Given the description of an element on the screen output the (x, y) to click on. 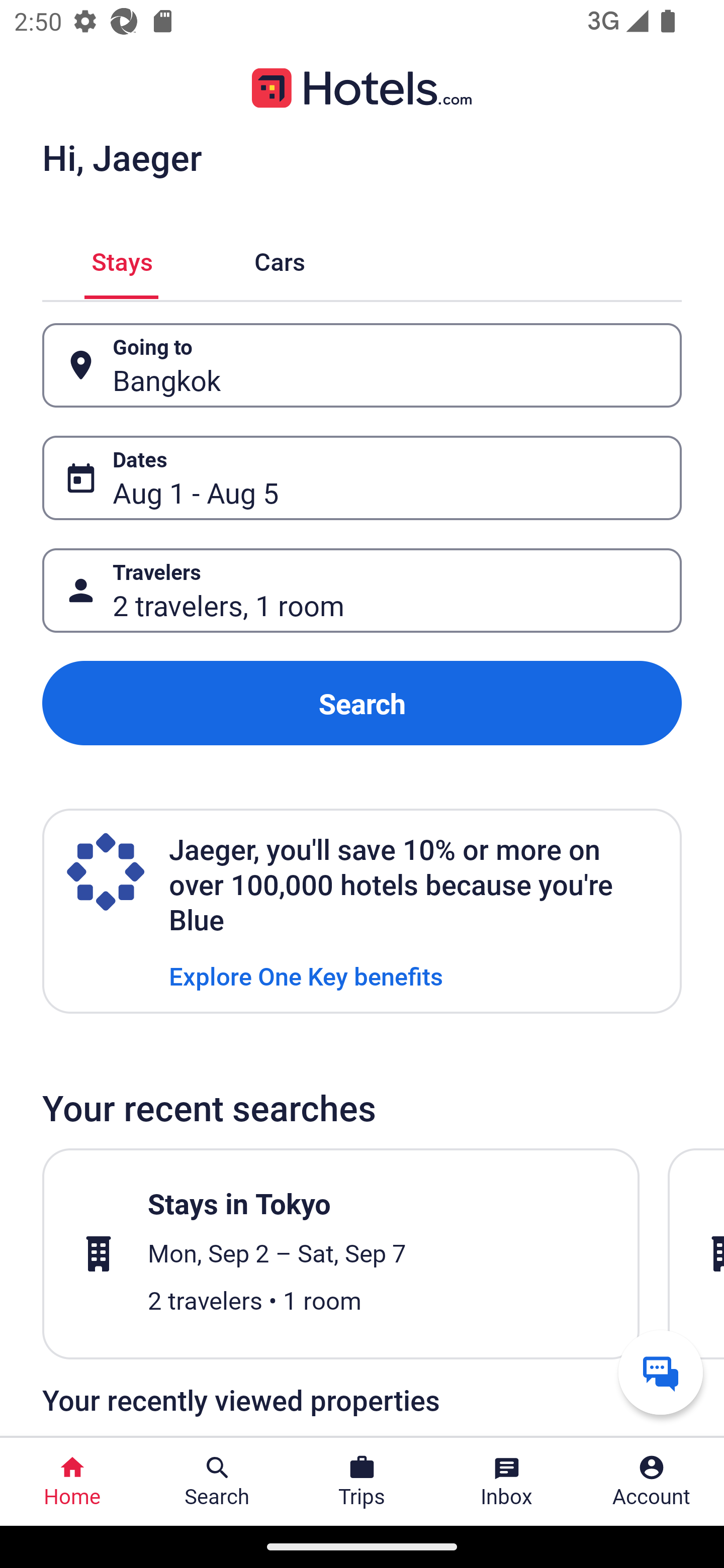
Hi, Jaeger (121, 156)
Cars (279, 259)
Going to Button Bangkok (361, 365)
Dates Button Aug 1 - Aug 5 (361, 477)
Travelers Button 2 travelers, 1 room (361, 590)
Search (361, 702)
Get help from a virtual agent (660, 1371)
Search Search Button (216, 1481)
Trips Trips Button (361, 1481)
Inbox Inbox Button (506, 1481)
Account Profile. Button (651, 1481)
